Given the description of an element on the screen output the (x, y) to click on. 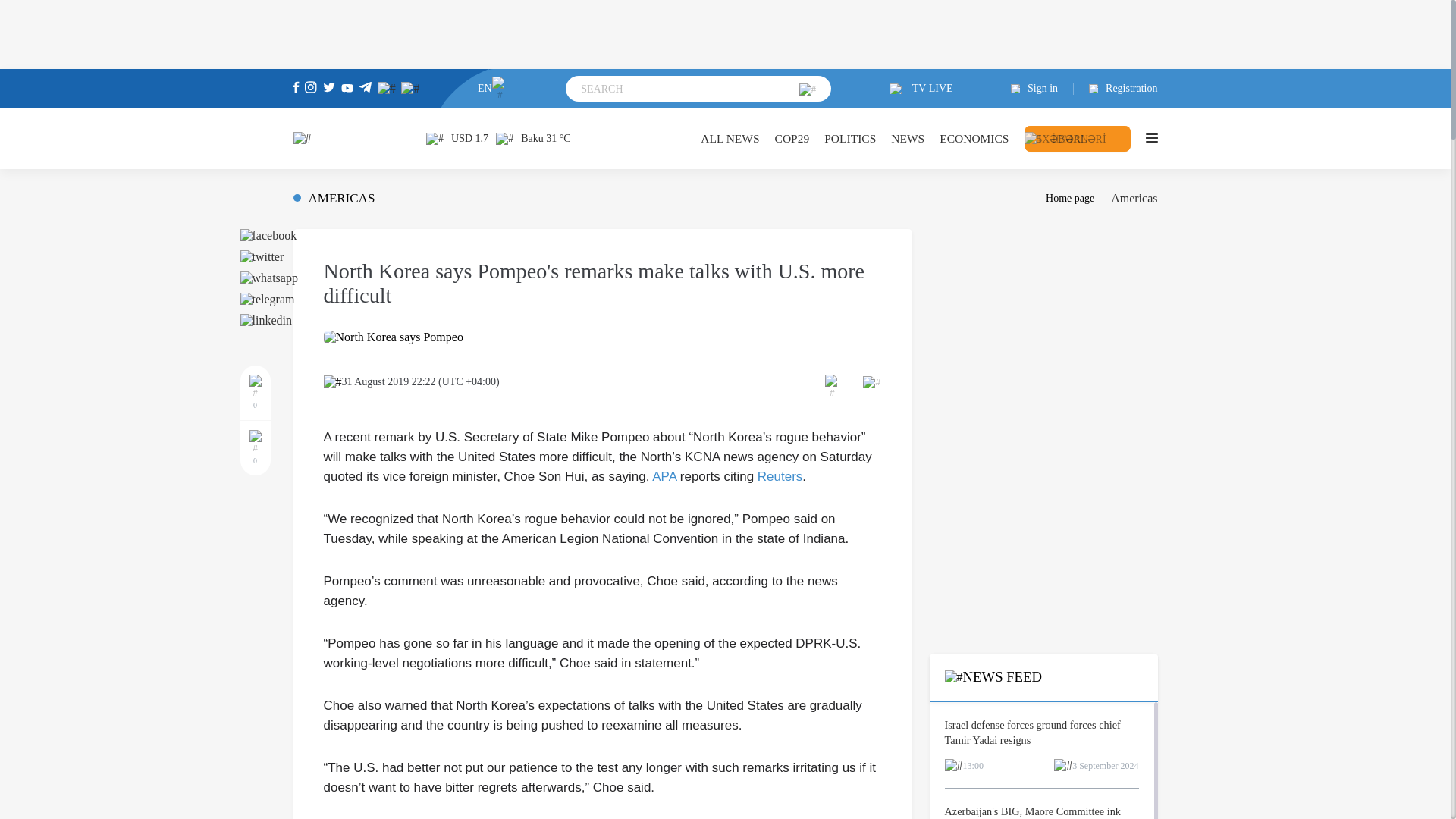
POLITICS (850, 138)
ECONOMICS (974, 138)
COP29 (791, 138)
USD 1.7 (456, 138)
Sign in (1042, 88)
ALL NEWS (729, 138)
Registration (1115, 88)
NEWS (907, 138)
TV LIVE (921, 88)
